Given the description of an element on the screen output the (x, y) to click on. 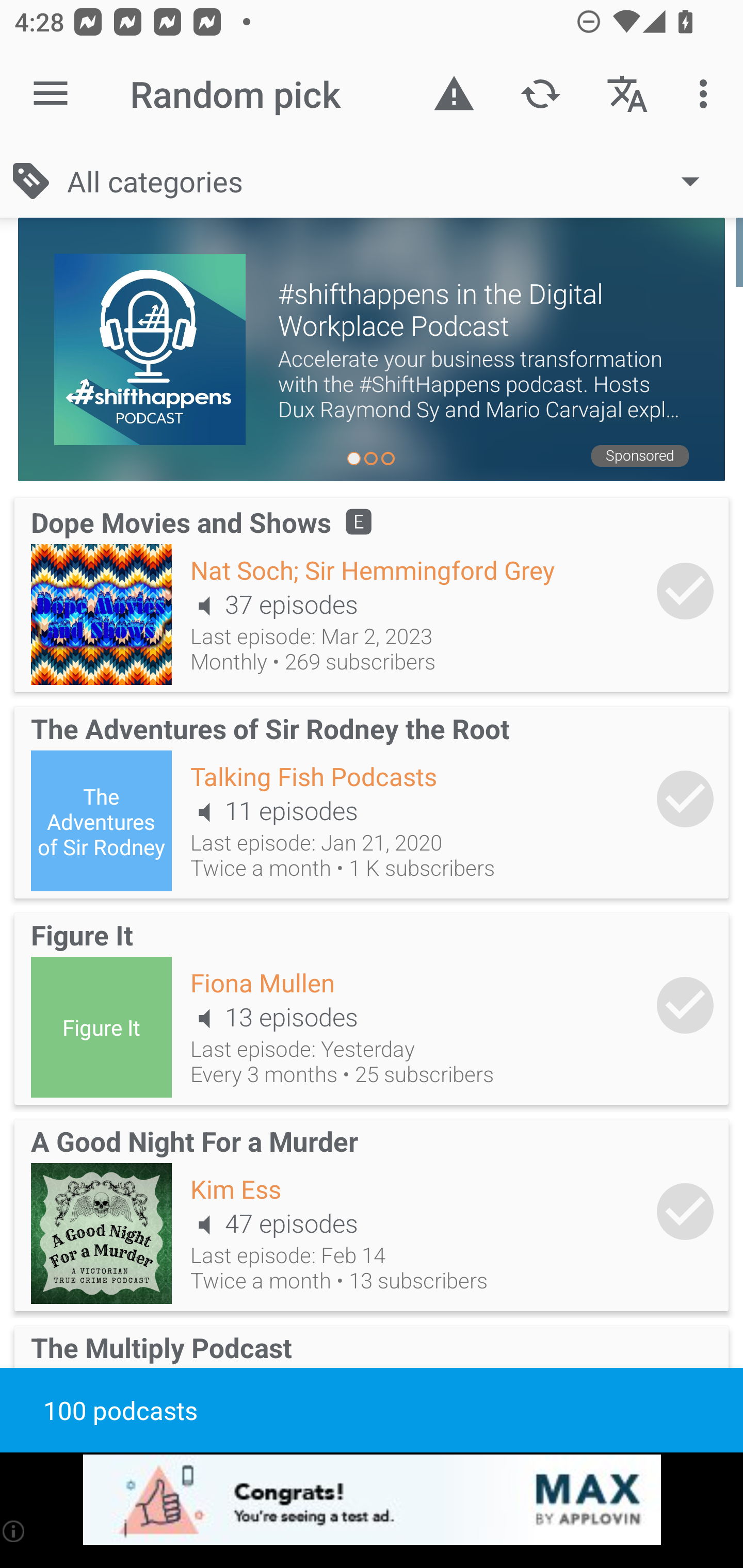
Open navigation sidebar (50, 93)
Report inappropriate content (453, 93)
Update top podcasts list (540, 93)
Podcast languages (626, 93)
More options (706, 93)
All categories (393, 180)
Add (684, 591)
Add (684, 798)
Add (684, 1004)
Add (684, 1211)
app-monetization (371, 1500)
(i) (14, 1531)
